Given the description of an element on the screen output the (x, y) to click on. 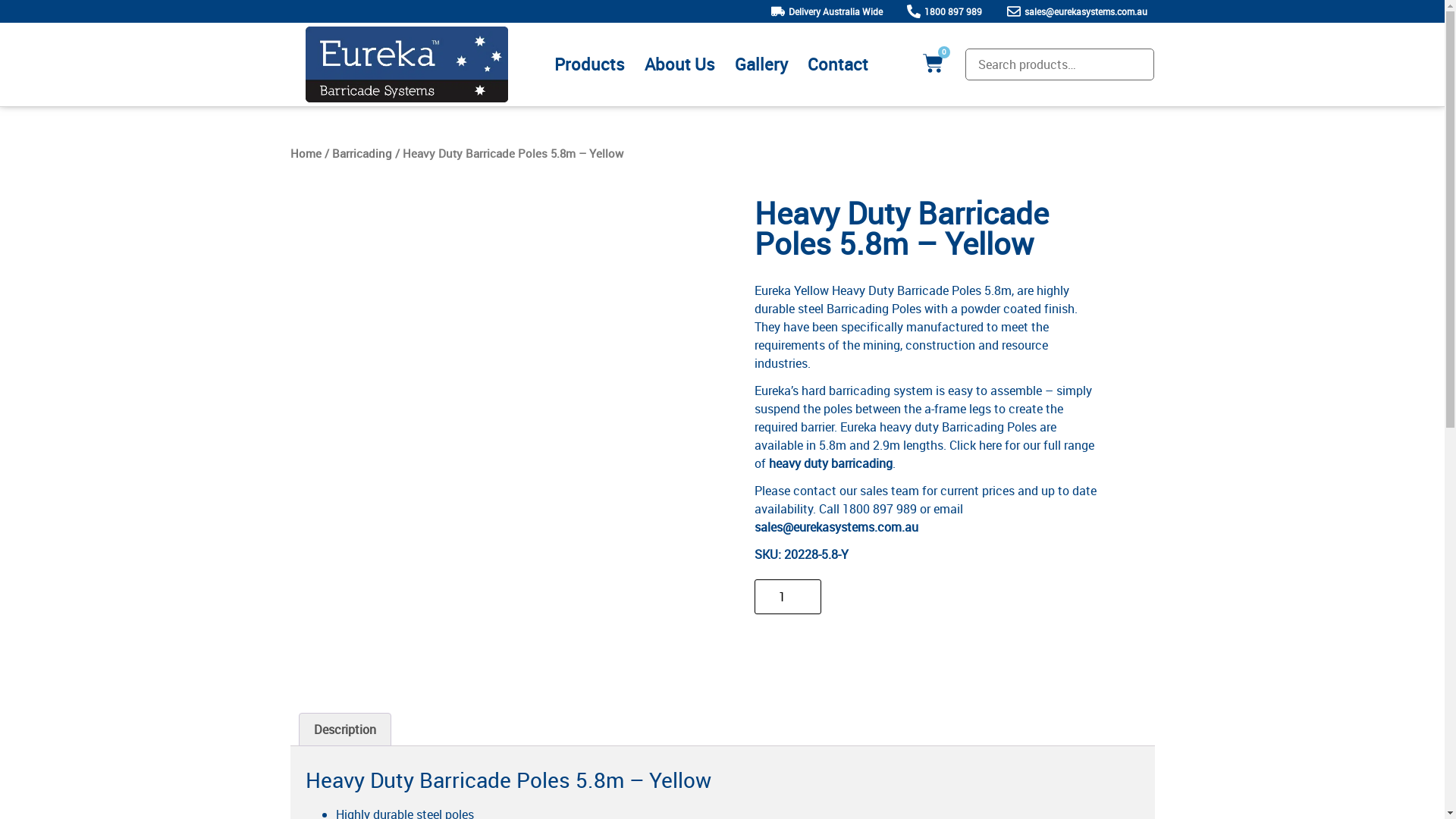
Products Element type: text (589, 64)
sales@eurekasystems.com.au Element type: text (836, 526)
About Us Element type: text (679, 64)
Search Element type: text (31, 15)
Home Element type: text (304, 152)
Gallery Element type: text (761, 64)
107 Element type: text (890, 596)
heavy duty barricading Element type: text (830, 463)
0 Element type: text (932, 63)
sales@eurekasystems.com.au Element type: text (1075, 11)
Contact Element type: text (837, 64)
Barricading Element type: text (362, 152)
Description Element type: text (343, 729)
